Given the description of an element on the screen output the (x, y) to click on. 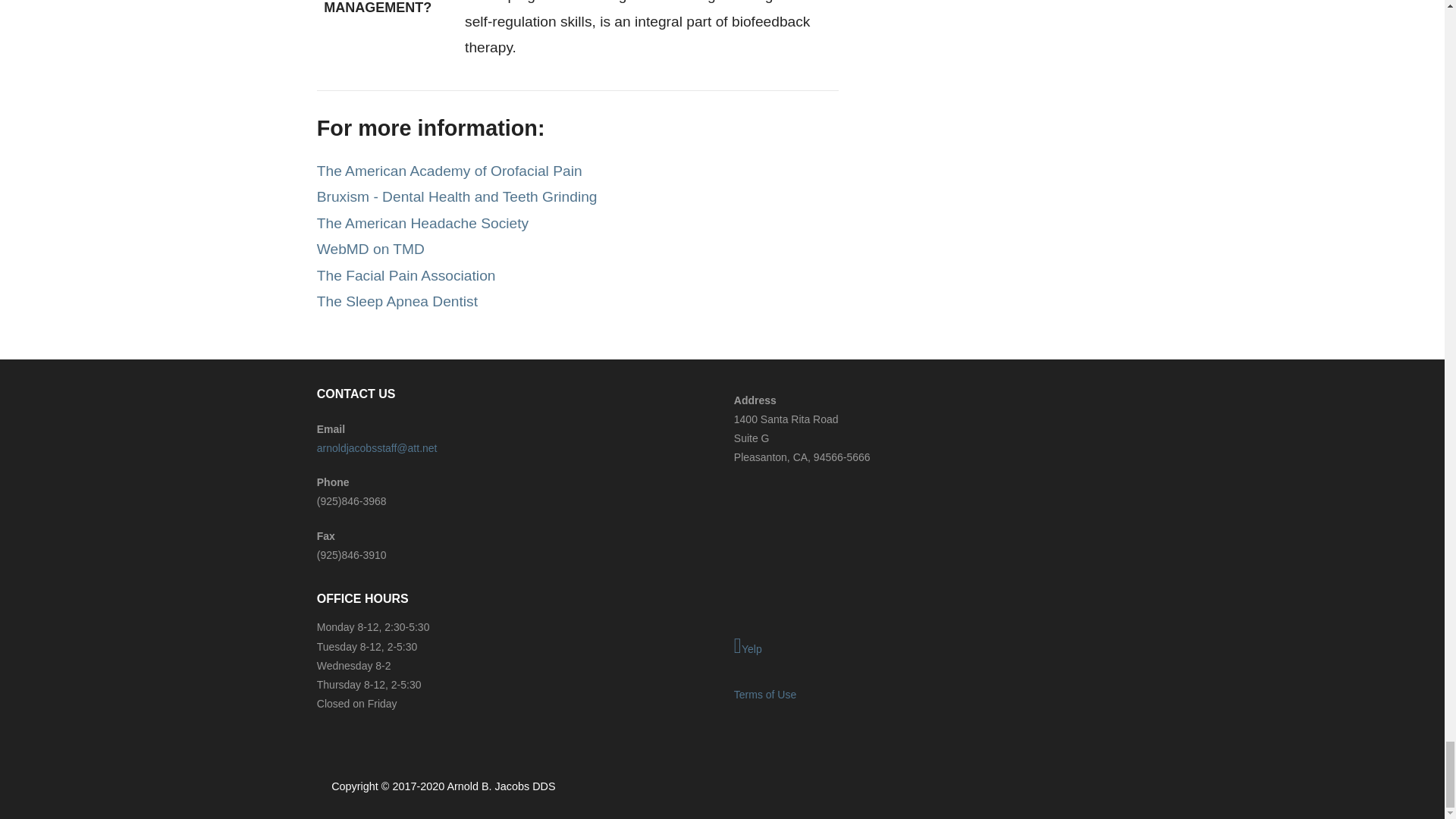
WebMD on TMD (371, 248)
The Facial Pain Association (406, 275)
The American Headache Society (422, 222)
Terms of Use (764, 694)
The American Academy of Orofacial Pain (449, 170)
Bruxism - Dental Health and Teeth Grinding (456, 196)
The Sleep Apnea Dentist (397, 301)
Visit ARNOLD B. JACOBS DDS on Yelp (929, 647)
Yelp (929, 647)
